Given the description of an element on the screen output the (x, y) to click on. 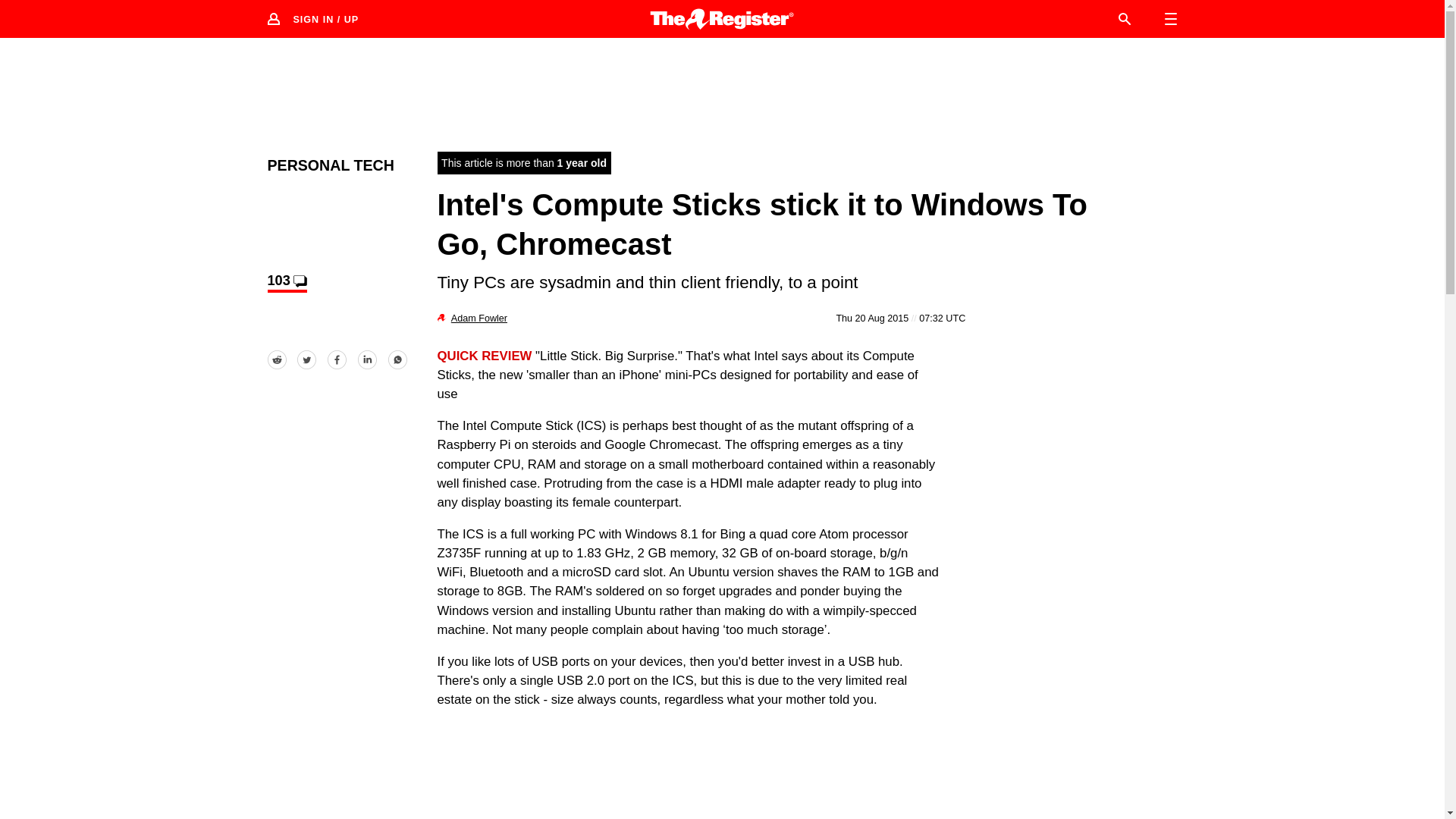
Read more by this author (478, 318)
View comments on this article (285, 282)
